Given the description of an element on the screen output the (x, y) to click on. 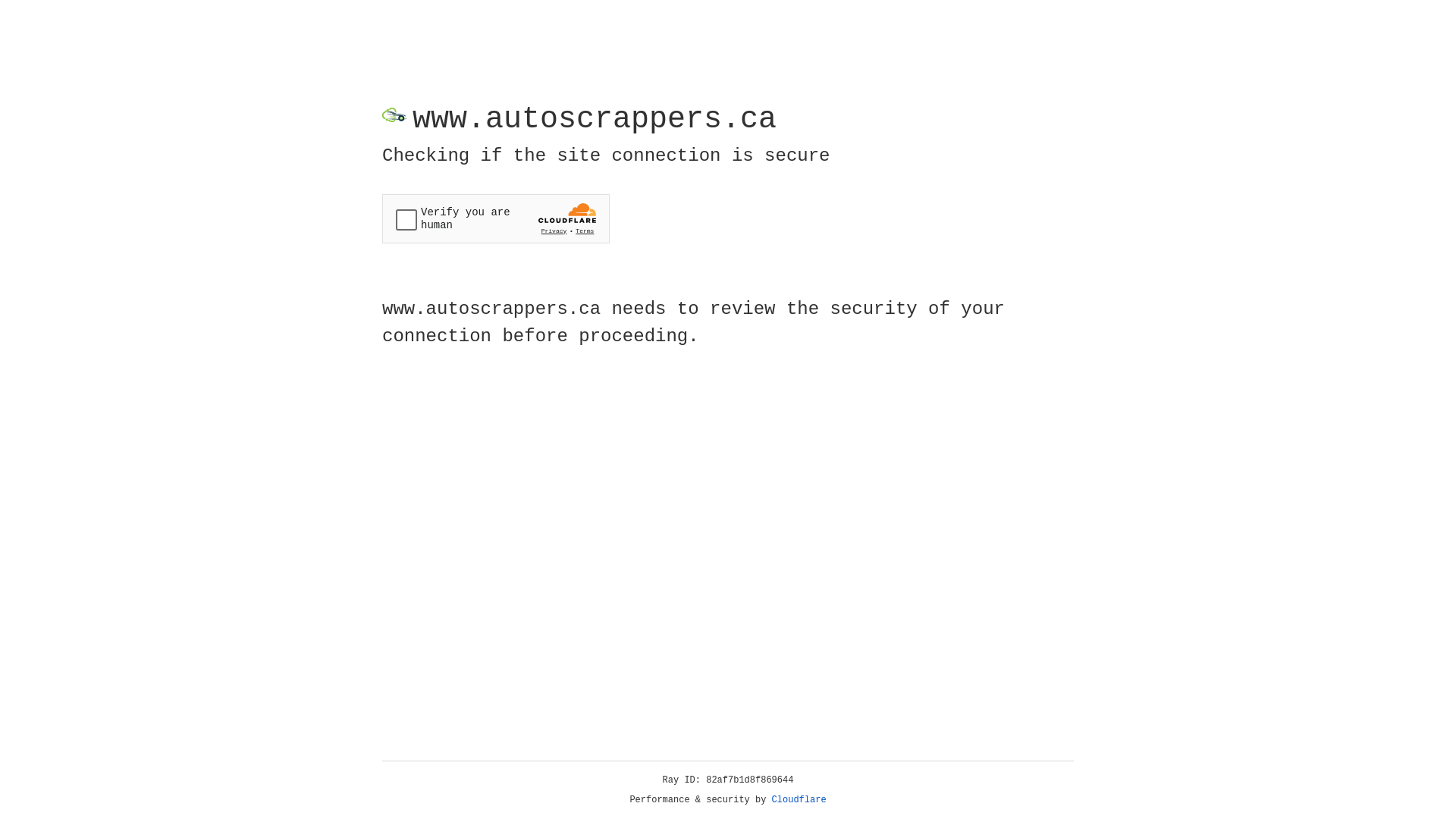
Cloudflare Element type: text (798, 799)
Widget containing a Cloudflare security challenge Element type: hover (495, 218)
